Given the description of an element on the screen output the (x, y) to click on. 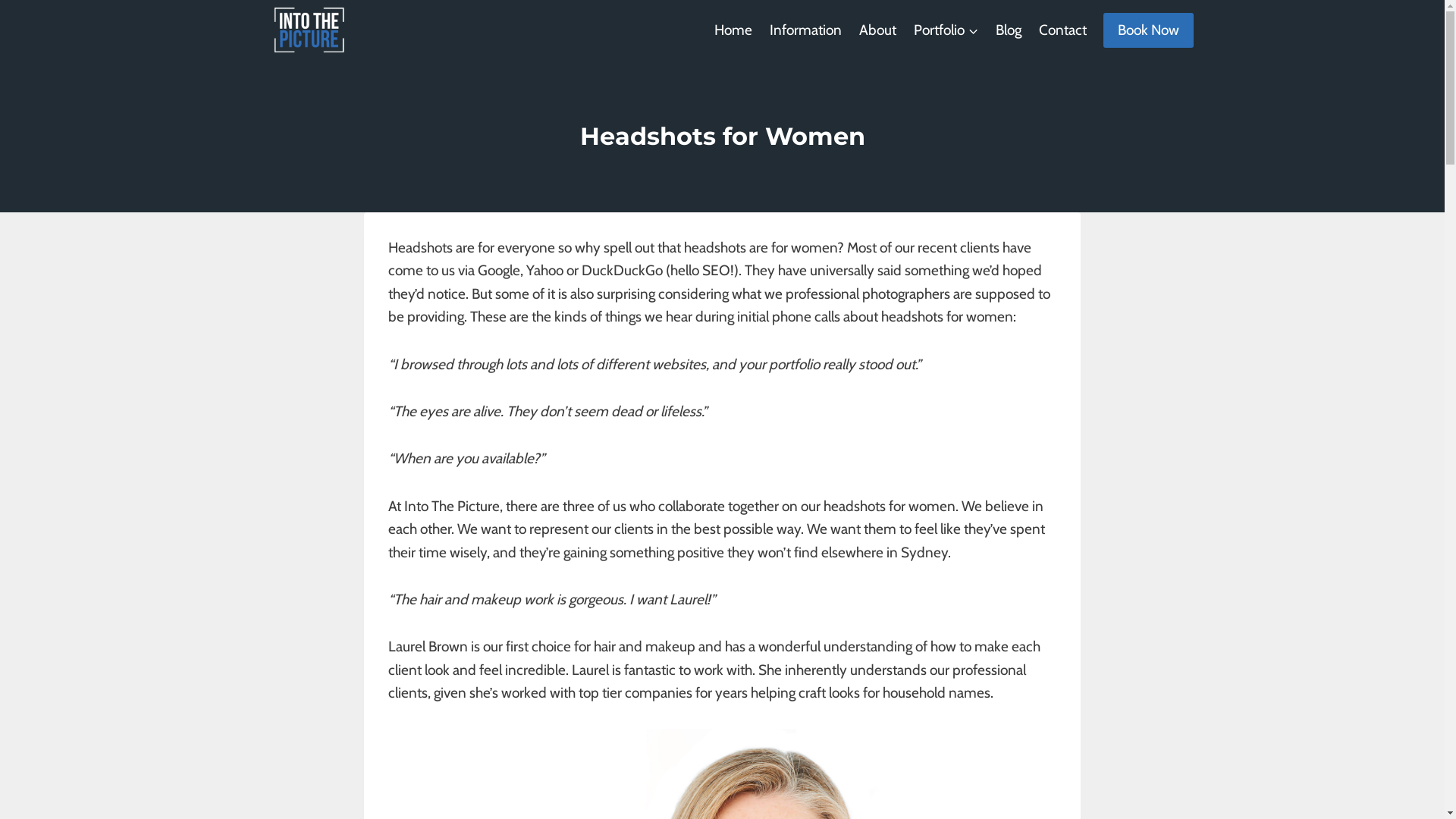
Blog Element type: text (1008, 29)
Information Element type: text (805, 29)
Contact Element type: text (1062, 29)
Home Element type: text (733, 29)
Portfolio Element type: text (945, 29)
Book Now Element type: text (1147, 29)
About Element type: text (877, 29)
